Given the description of an element on the screen output the (x, y) to click on. 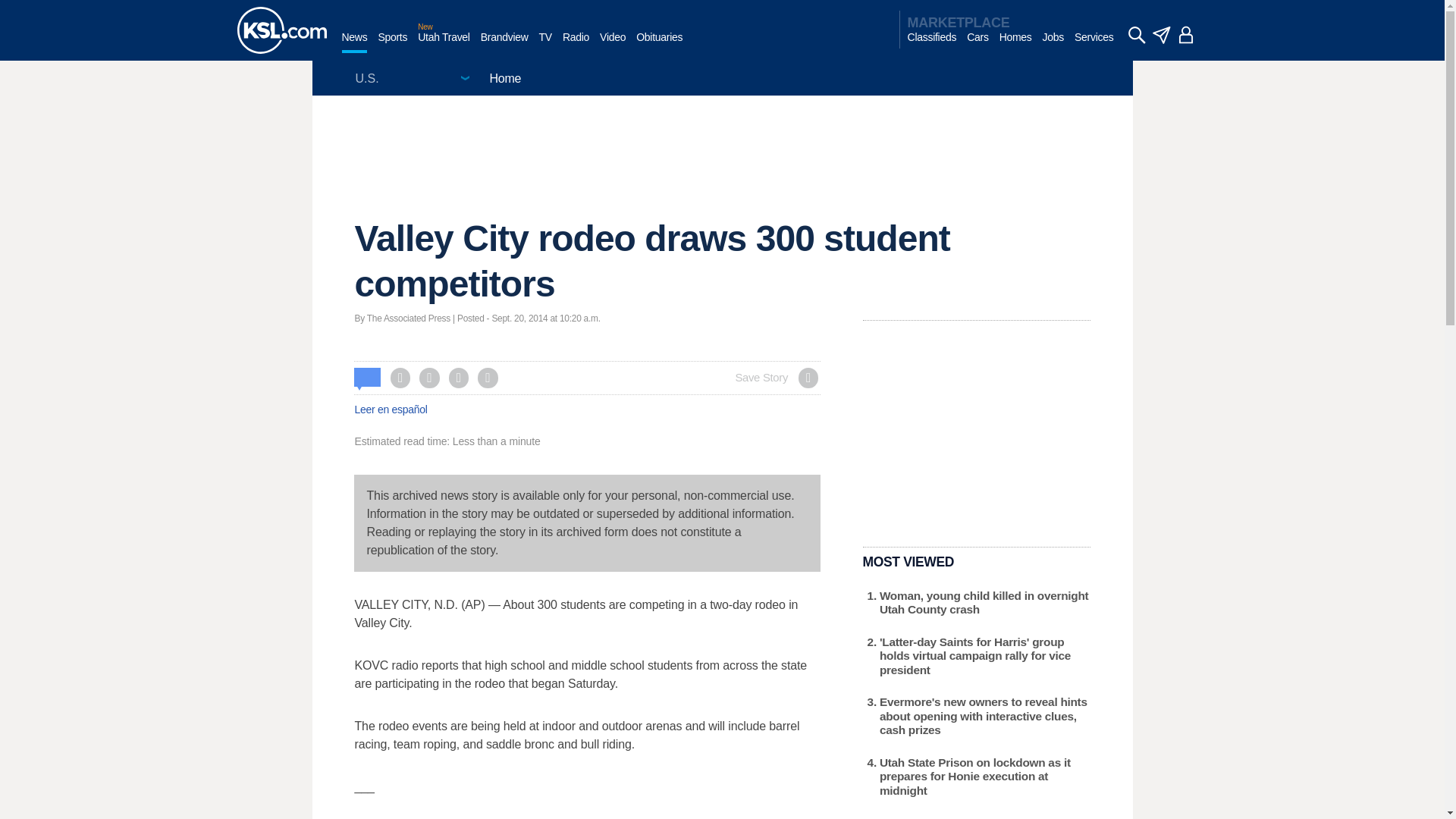
KSL homepage (280, 29)
account - logged out (1185, 34)
search (1135, 34)
